Given the description of an element on the screen output the (x, y) to click on. 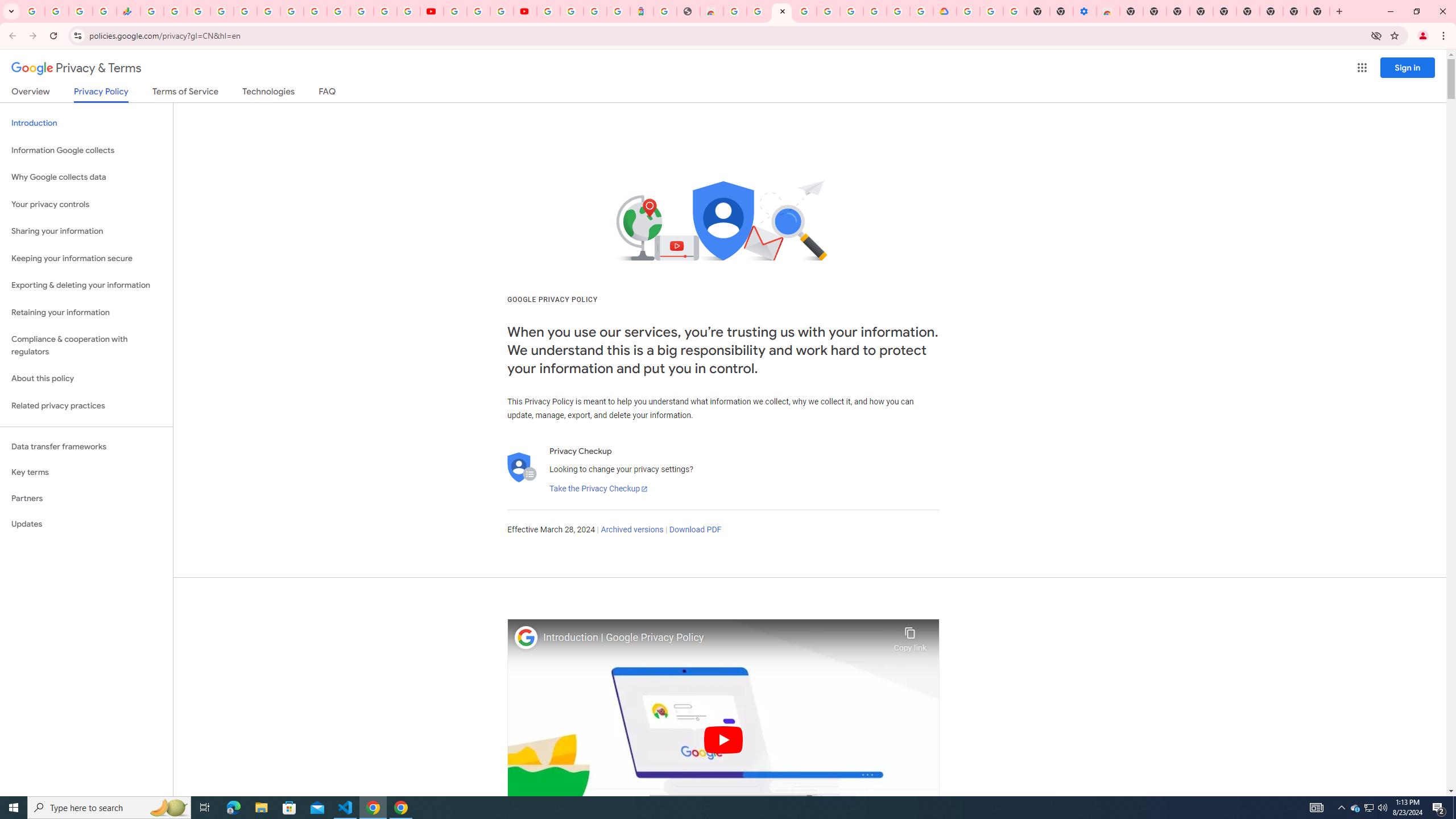
Create your Google Account (501, 11)
Partners (86, 497)
Browse the Google Chrome Community - Google Chrome Community (921, 11)
Keeping your information secure (86, 258)
Download PDF (695, 529)
Ad Settings (804, 11)
About this policy (86, 379)
New Tab (1271, 11)
Updates (86, 524)
Sign in - Google Accounts (968, 11)
Android TV Policies and Guidelines - Transparency Center (291, 11)
